Given the description of an element on the screen output the (x, y) to click on. 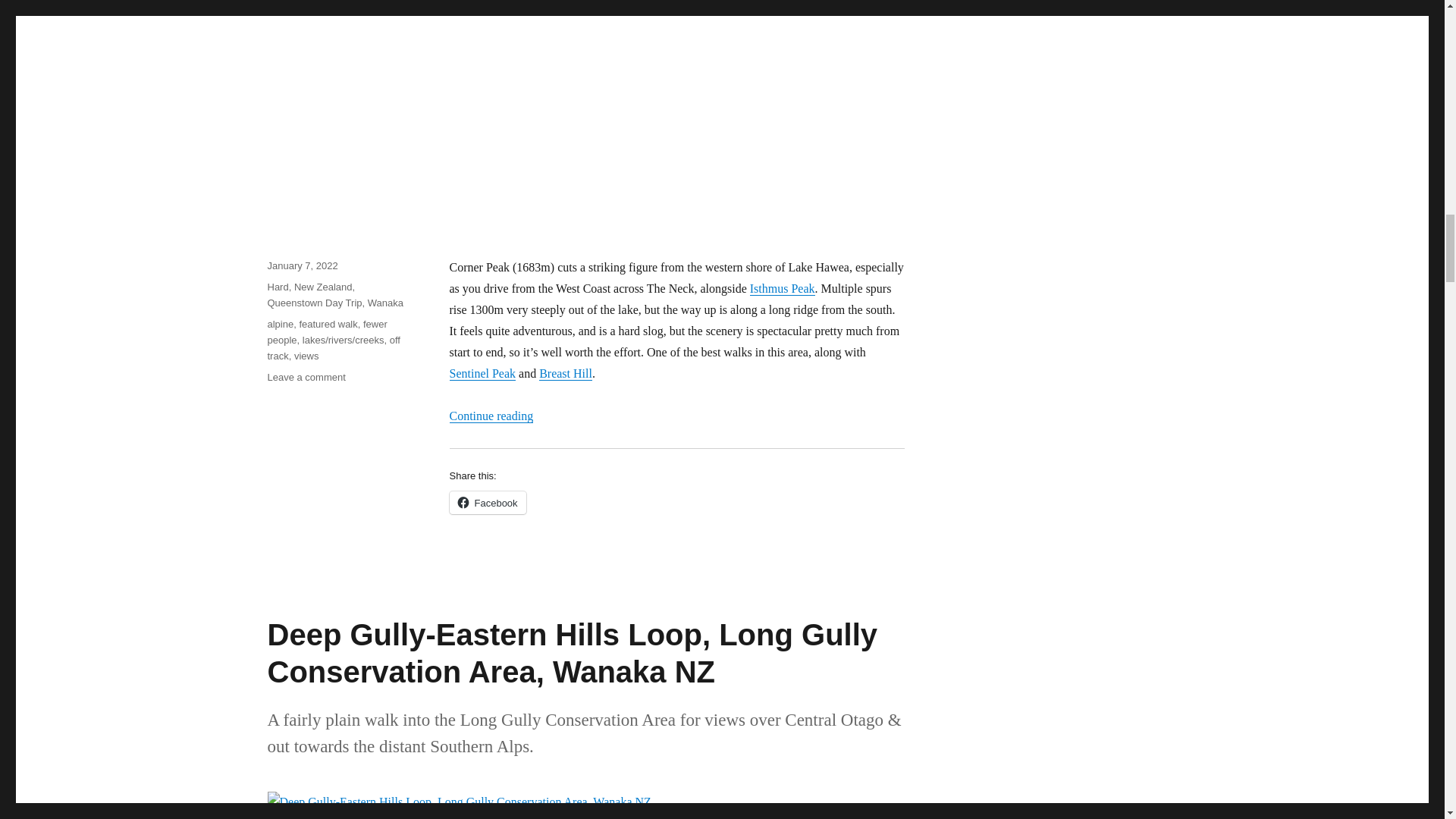
Click to share on Facebook (486, 502)
